Given the description of an element on the screen output the (x, y) to click on. 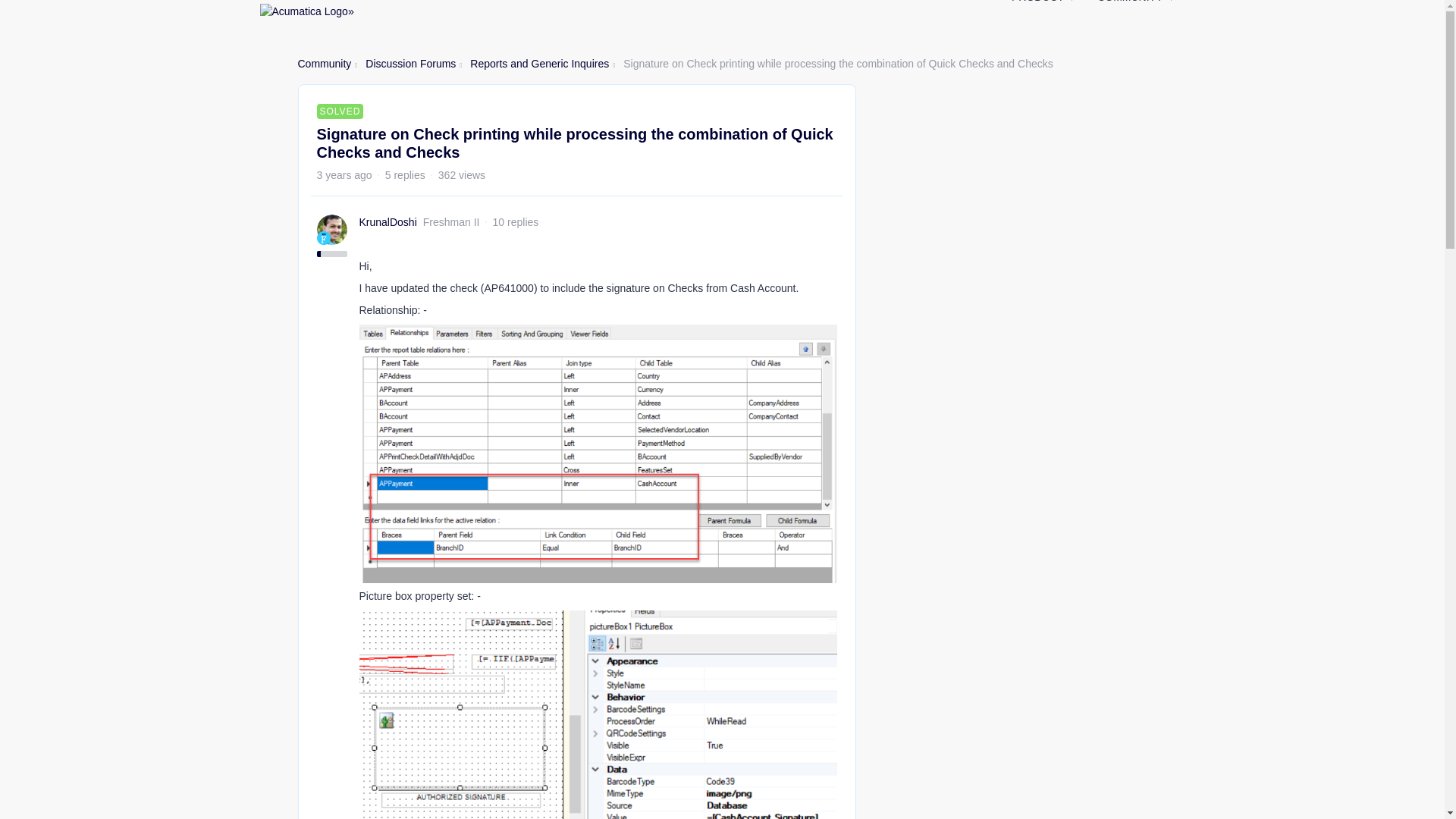
KrunalDoshi (387, 222)
COMMUNITY (1135, 6)
PRODUCT (1042, 6)
Discussion Forums (410, 64)
Freshman II (323, 237)
Reports and Generic Inquires (539, 64)
Community (323, 64)
